Given the description of an element on the screen output the (x, y) to click on. 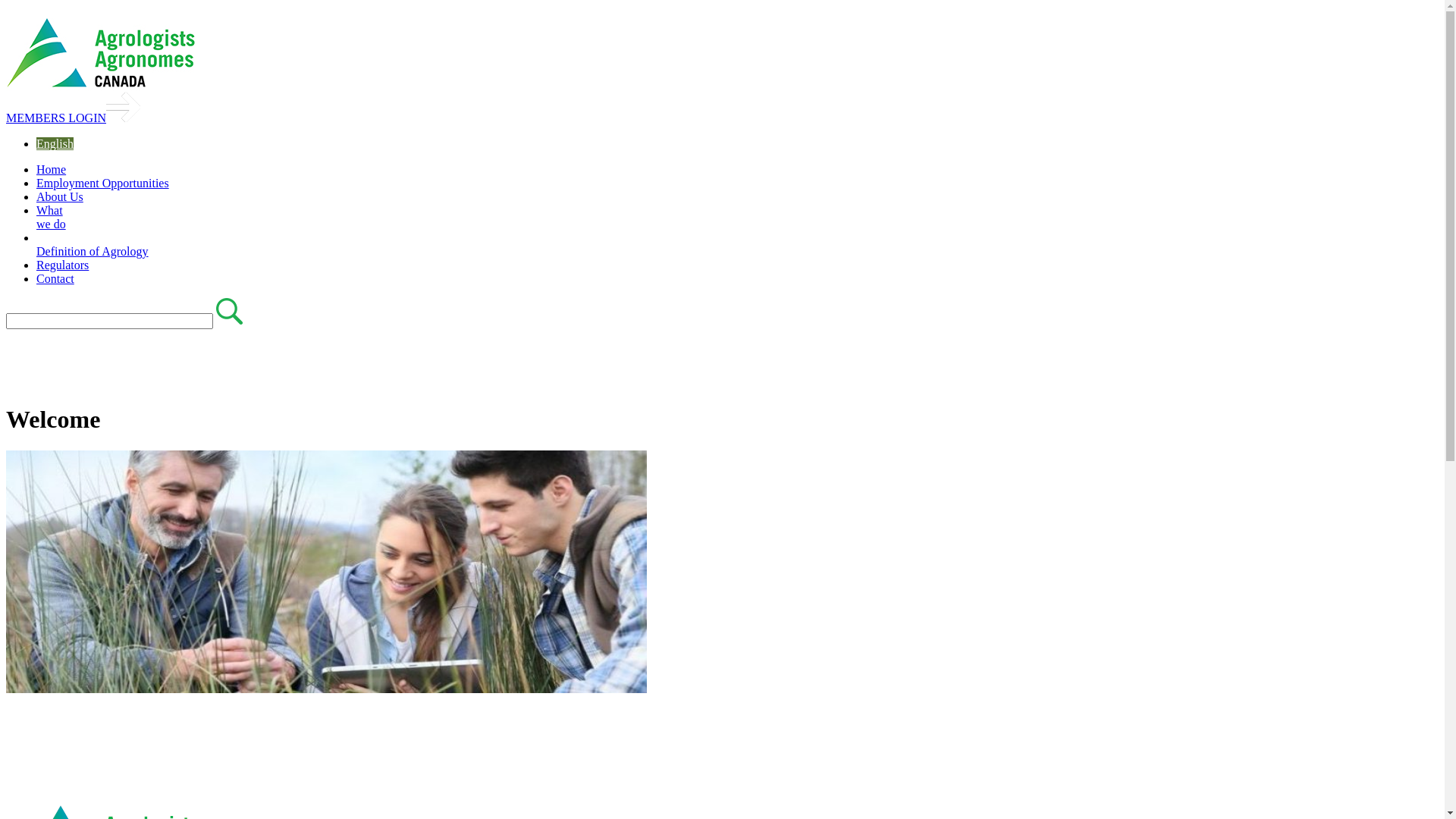
Employment Opportunities Element type: text (102, 182)
Definition of Agrology Element type: text (92, 257)
Regulators Element type: text (62, 264)
Contact Element type: text (55, 278)
About Us Element type: text (59, 196)
What
we do Element type: text (50, 216)
English Element type: text (54, 143)
Home Element type: text (50, 169)
MEMBERS LOGIN Element type: text (73, 117)
